Given the description of an element on the screen output the (x, y) to click on. 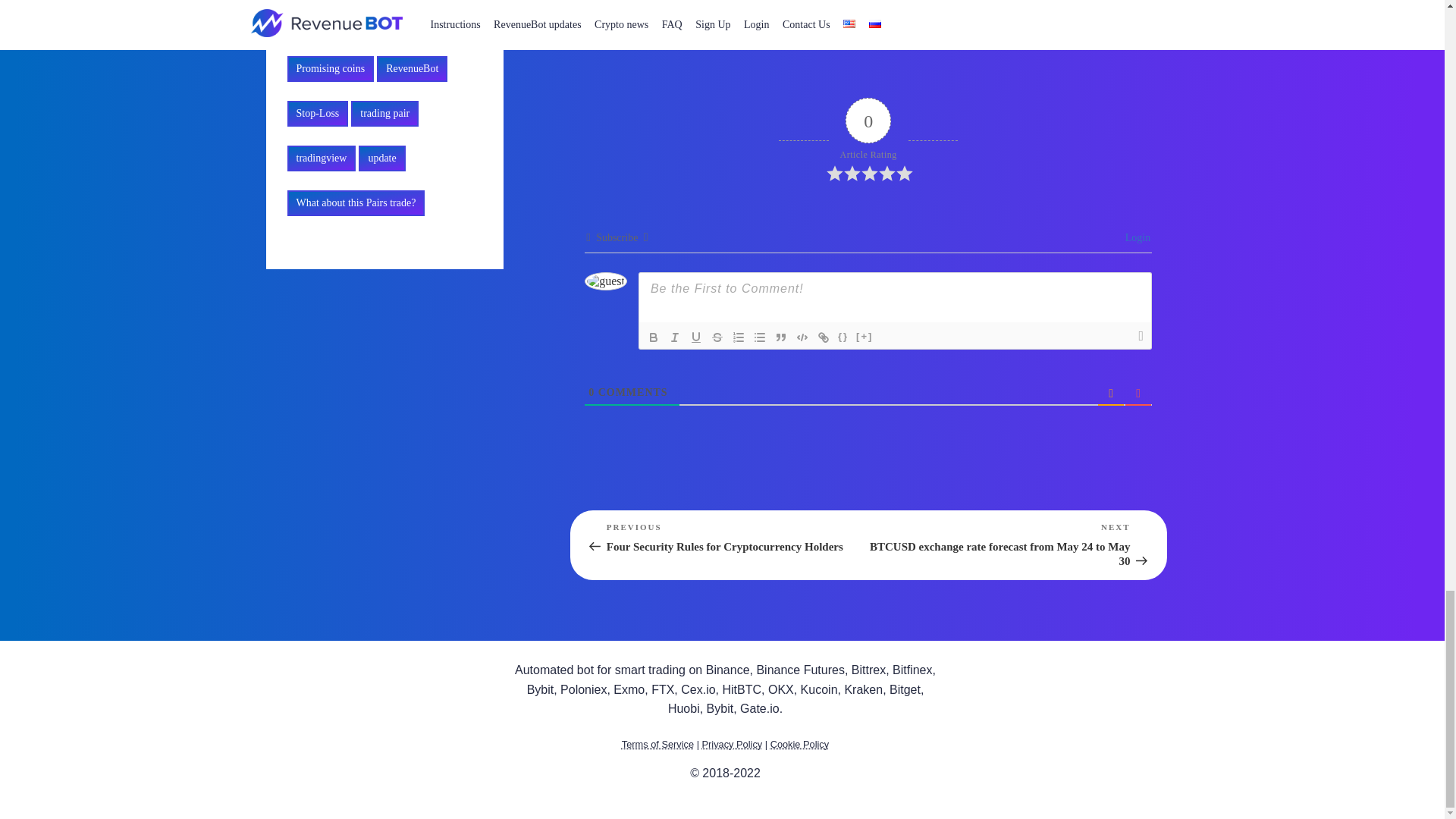
Spoiler (863, 336)
Bold (653, 336)
Code Block (802, 336)
ordered (738, 336)
Ordered List (738, 336)
Login (1135, 237)
bullet (759, 336)
Italic (674, 336)
Blockquote (781, 336)
Unordered List (759, 336)
